Given the description of an element on the screen output the (x, y) to click on. 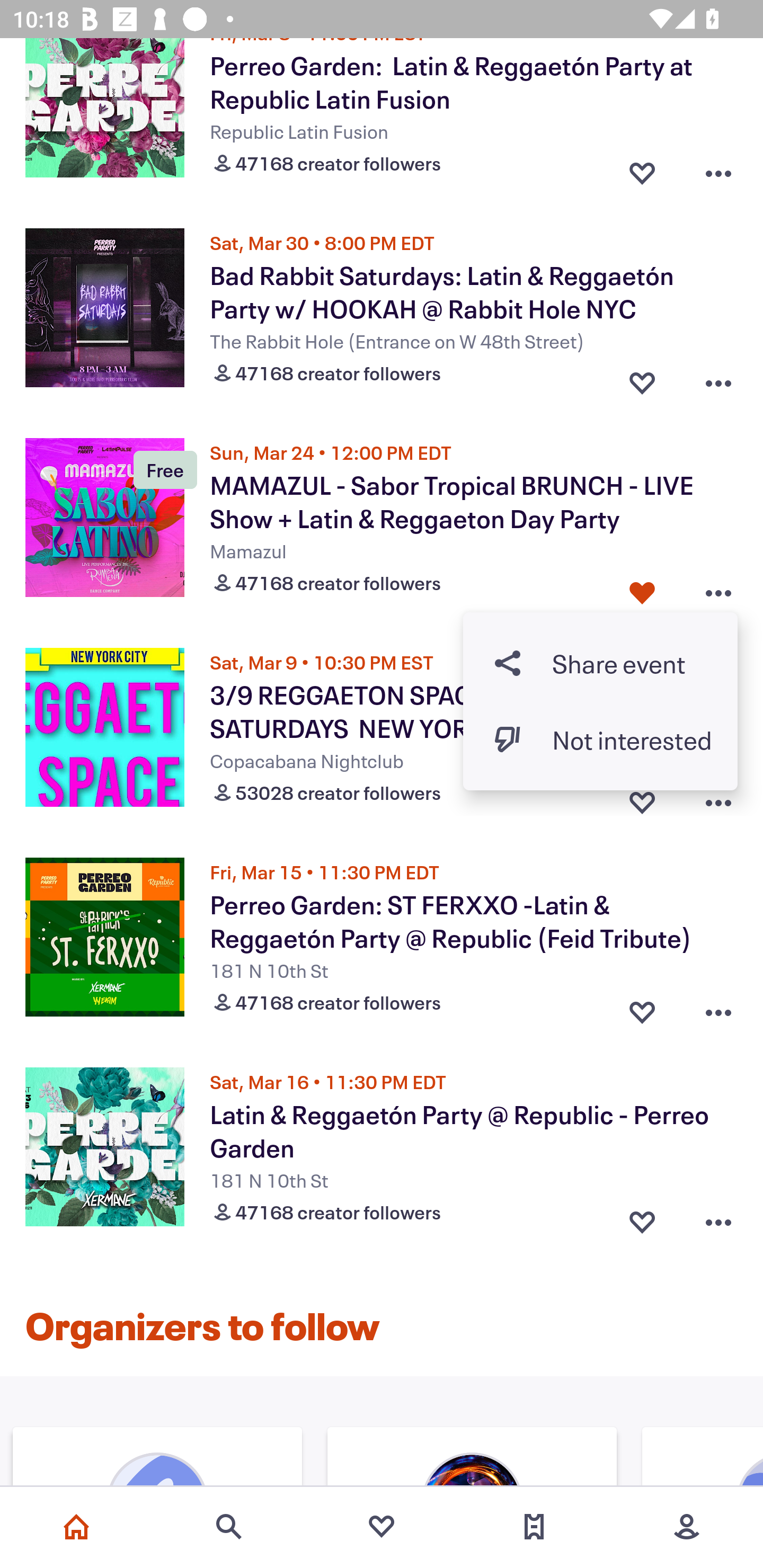
Share button Share event (600, 662)
Dislike event button Not interested (600, 738)
